Given the description of an element on the screen output the (x, y) to click on. 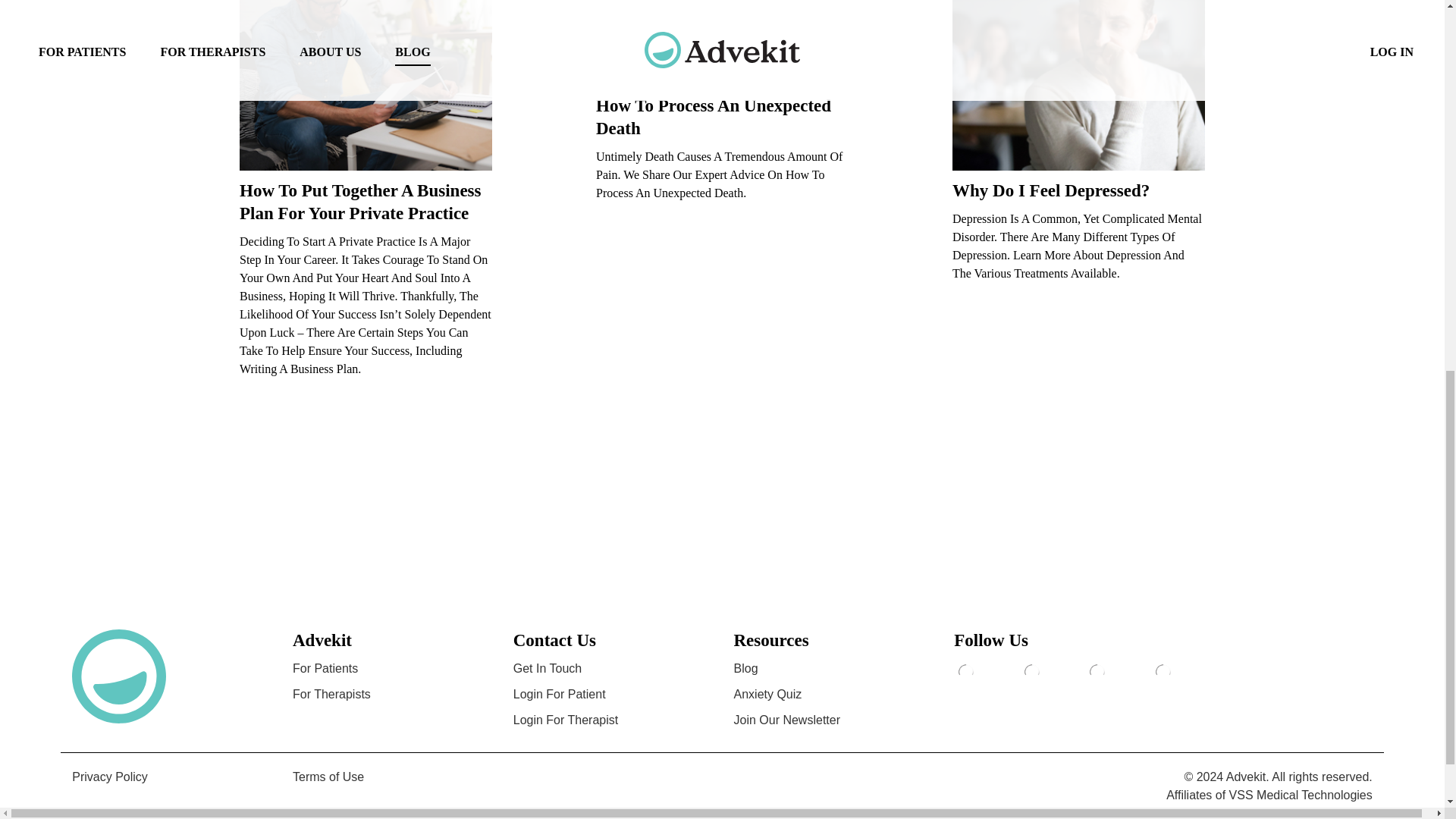
For Patients (325, 667)
Login For Therapist (565, 719)
Blog (745, 667)
Get In Touch (546, 667)
Anxiety Quiz (767, 694)
Get In Touch (546, 667)
Login For Patient (559, 694)
For Therapists (331, 694)
